Given the description of an element on the screen output the (x, y) to click on. 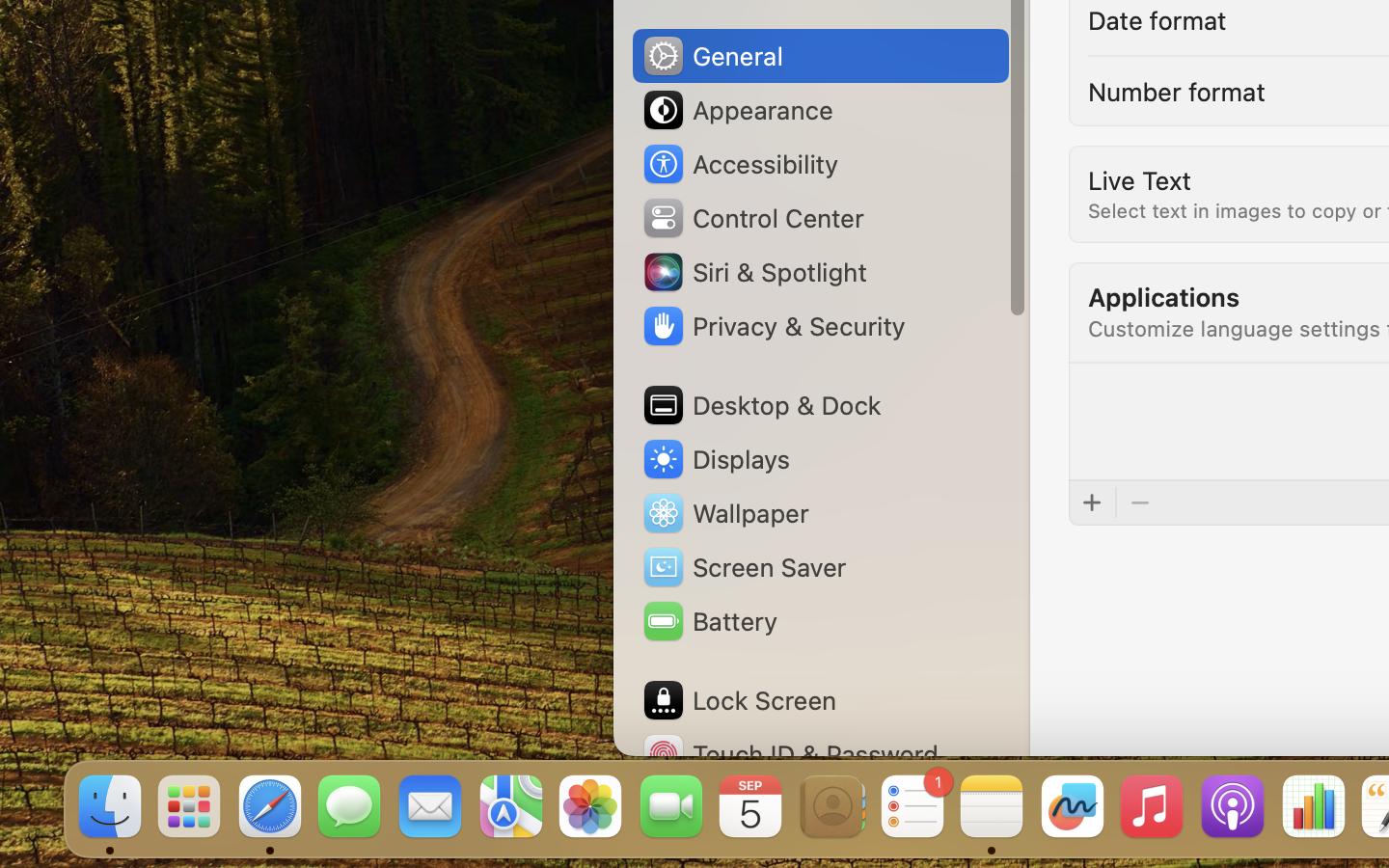
Live Text Element type: AXStaticText (1139, 178)
Privacy & Security Element type: AXStaticText (772, 325)
Accessibility Element type: AXStaticText (739, 163)
General Element type: AXStaticText (711, 55)
Screen Saver Element type: AXStaticText (743, 566)
